Given the description of an element on the screen output the (x, y) to click on. 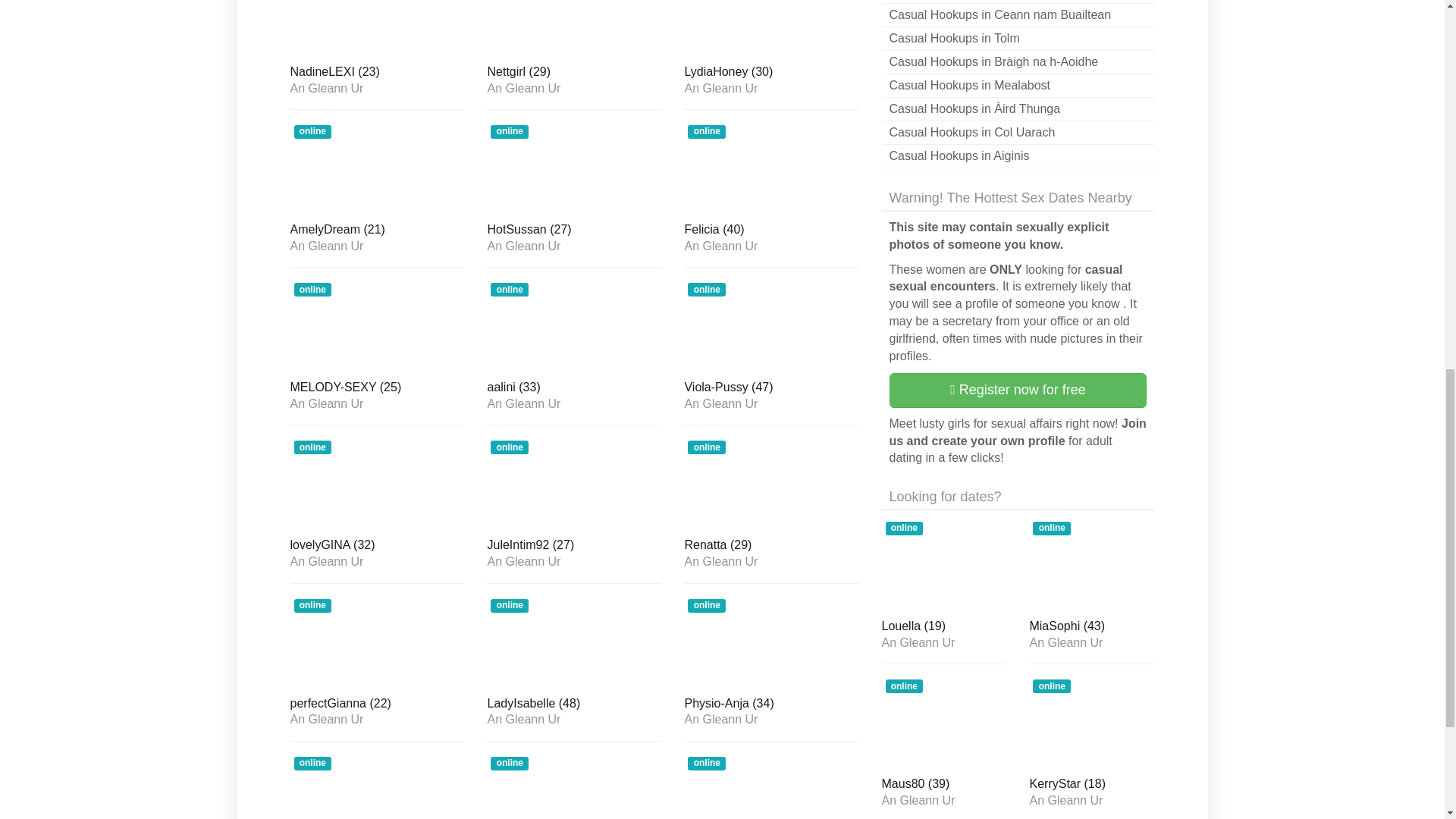
online (376, 28)
online (376, 326)
online (376, 168)
Date LydiaHoney now! (771, 28)
Date NadineLEXI now! (376, 73)
Date Nettgirl now! (573, 28)
An Gleann Ur (376, 404)
An Gleann Ur (573, 88)
online (573, 28)
Date HotSussan now! (573, 168)
Date HotSussan now! (573, 230)
online (771, 168)
Date NadineLEXI now! (376, 28)
Date AmelyDream now! (376, 168)
An Gleann Ur (376, 246)
